Given the description of an element on the screen output the (x, y) to click on. 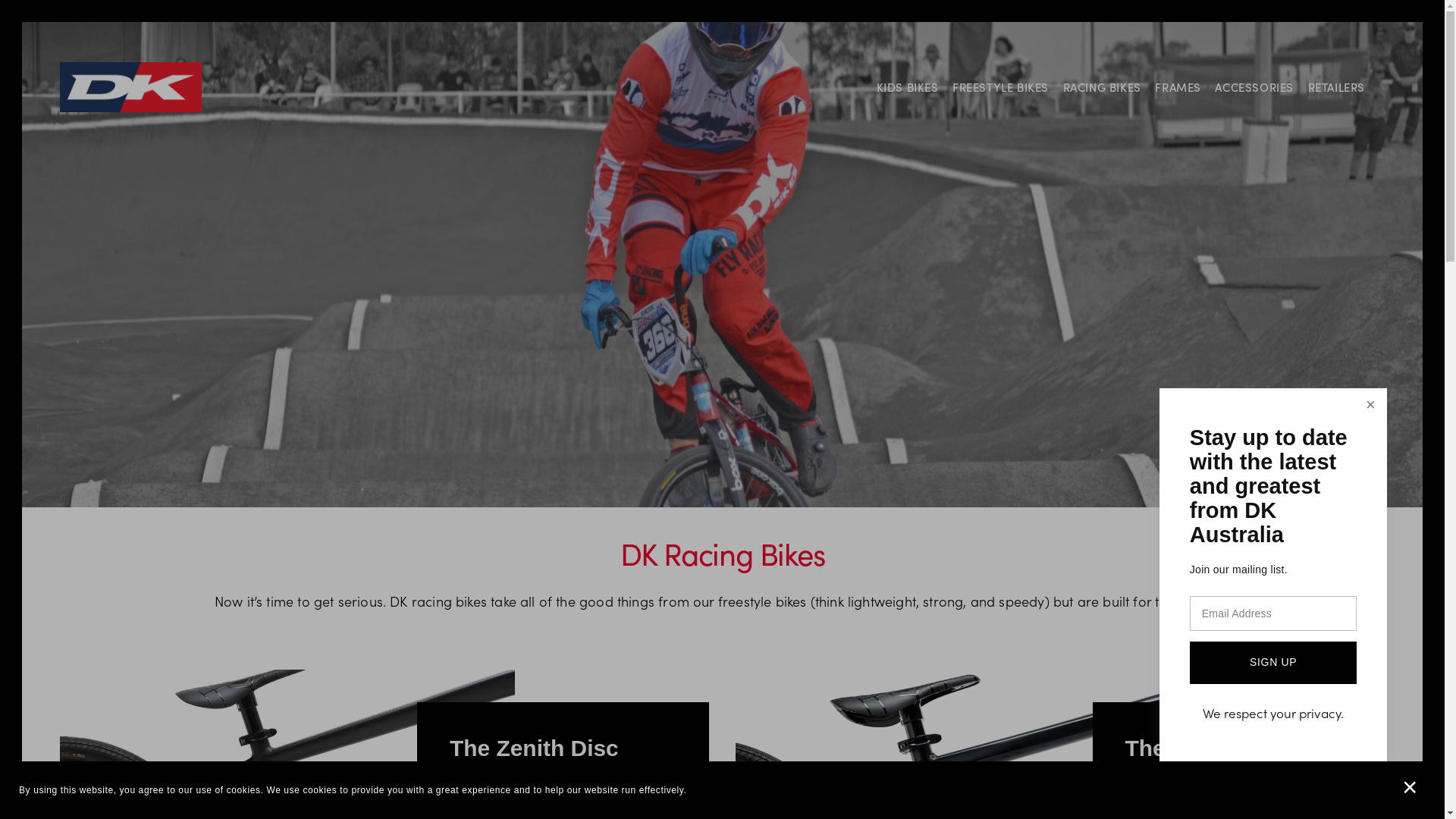
KIDS BIKES Element type: text (907, 86)
RETAILERS Element type: text (1336, 87)
FREESTYLE BIKES Element type: text (1000, 86)
RACING BIKES Element type: text (1102, 86)
FRAMES Element type: text (1177, 86)
ACCESSORIES Element type: text (1253, 87)
SIGN UP Element type: text (1272, 662)
